Given the description of an element on the screen output the (x, y) to click on. 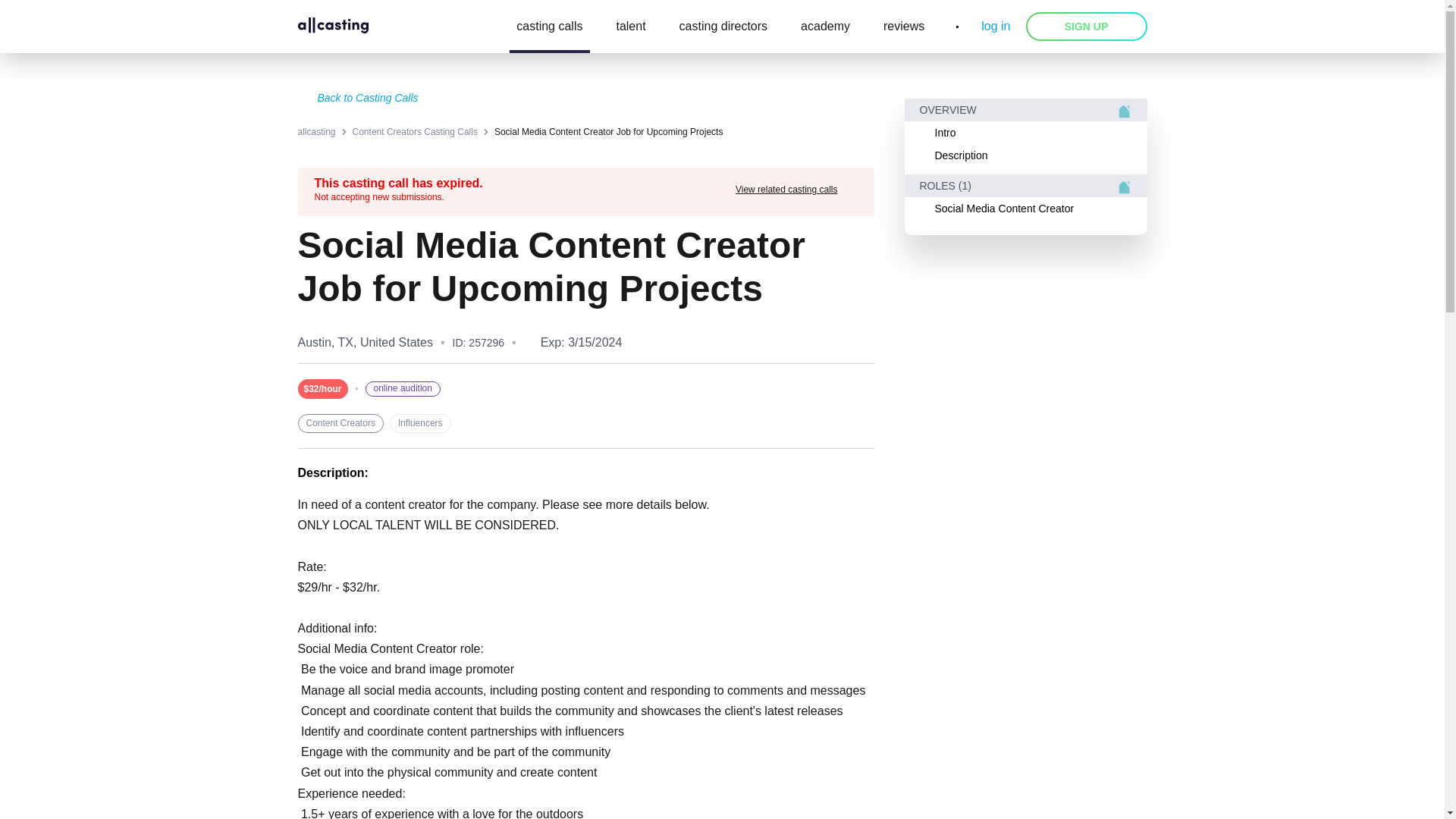
casting calls (548, 26)
Social Media Content Creator (1025, 208)
Intro (1025, 132)
Back to Casting Calls (585, 98)
allcasting (315, 131)
SIGN UP (1086, 26)
Content Creators (339, 423)
Influencers (420, 423)
View related casting calls (796, 189)
casting directors (723, 26)
